Given the description of an element on the screen output the (x, y) to click on. 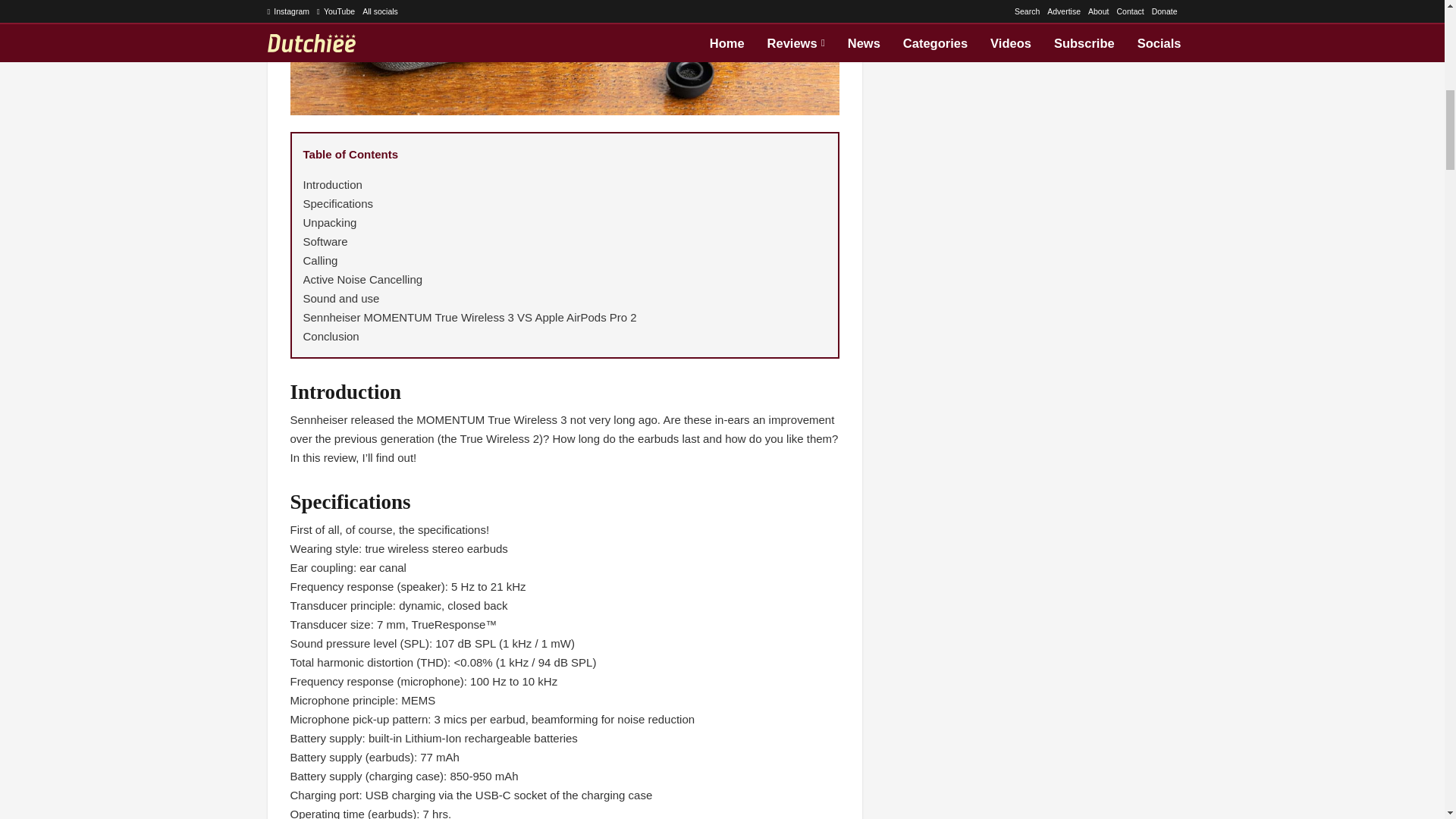
Introduction (332, 184)
Calling (319, 259)
Unpacking (329, 222)
Software (324, 241)
Specifications (338, 203)
Active Noise Cancelling (362, 278)
